Given the description of an element on the screen output the (x, y) to click on. 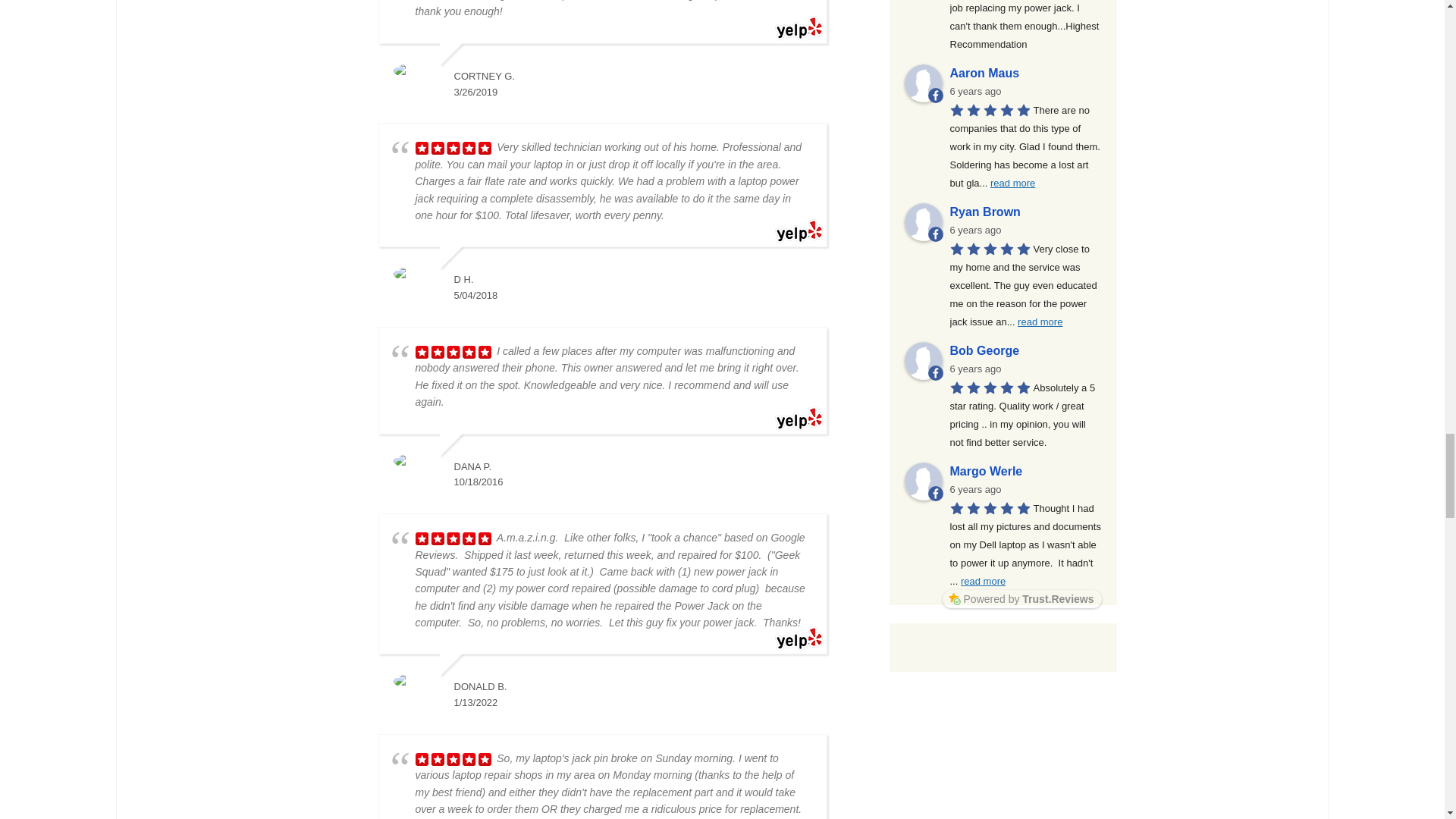
Powered by Trust.Reviews (1022, 598)
